Given the description of an element on the screen output the (x, y) to click on. 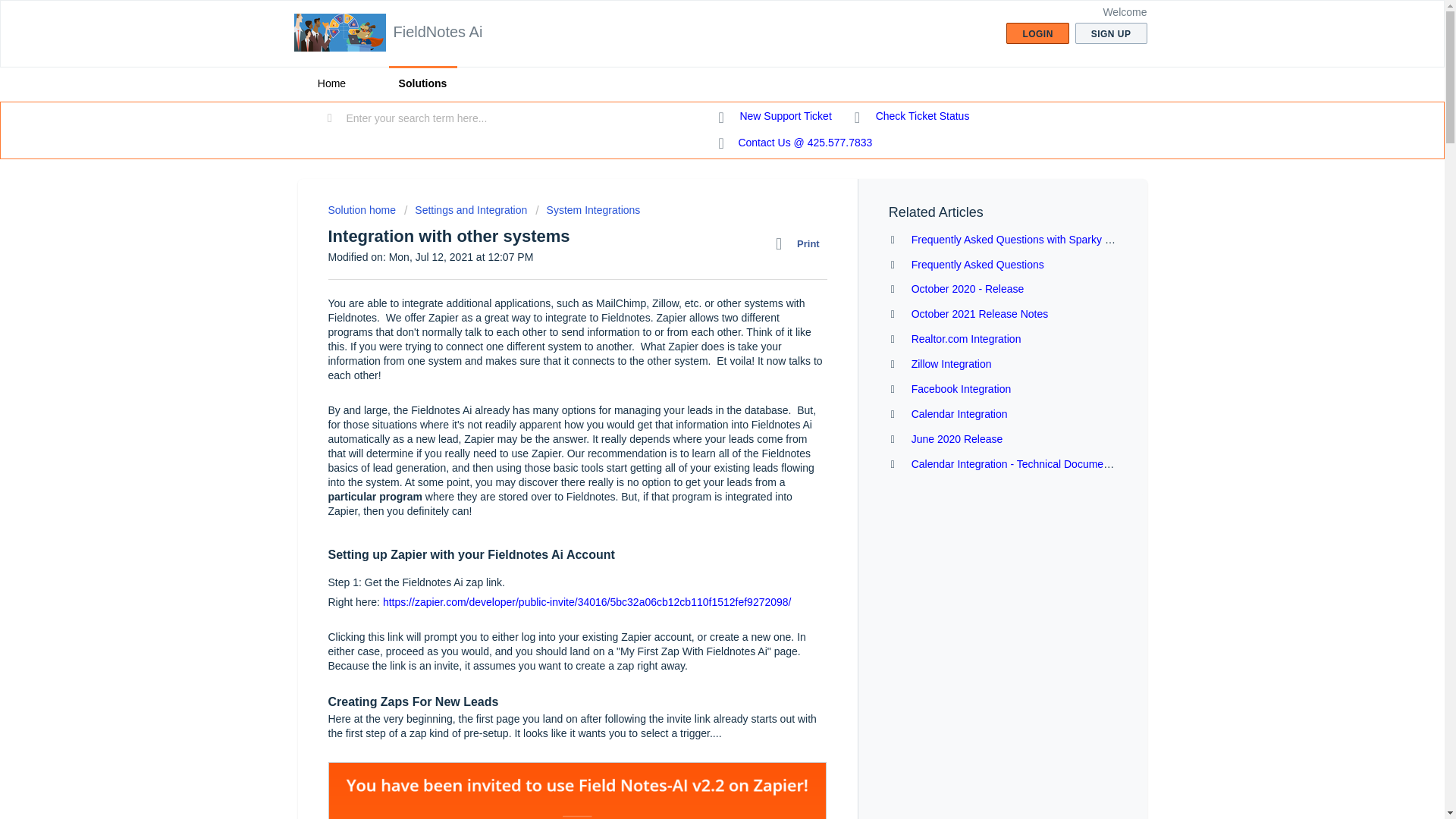
Solutions (422, 83)
Zillow Integration (951, 363)
Check ticket status (911, 116)
New Support Ticket (775, 116)
Realtor.com Integration (966, 338)
October 2020 - Release (968, 288)
October 2021 Release Notes (979, 313)
Print this Article (801, 243)
Check Ticket Status (911, 116)
System Integrations (587, 209)
Settings and Integration (465, 209)
Facebook Integration (961, 388)
New support ticket (775, 116)
Print (801, 243)
Frequently Asked Questions (977, 264)
